Given the description of an element on the screen output the (x, y) to click on. 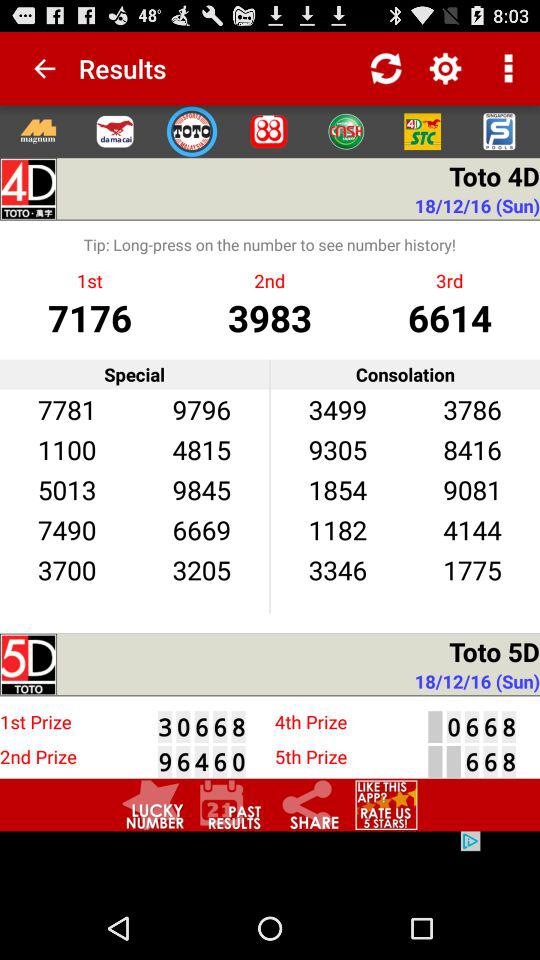
selects stc company (422, 131)
